Given the description of an element on the screen output the (x, y) to click on. 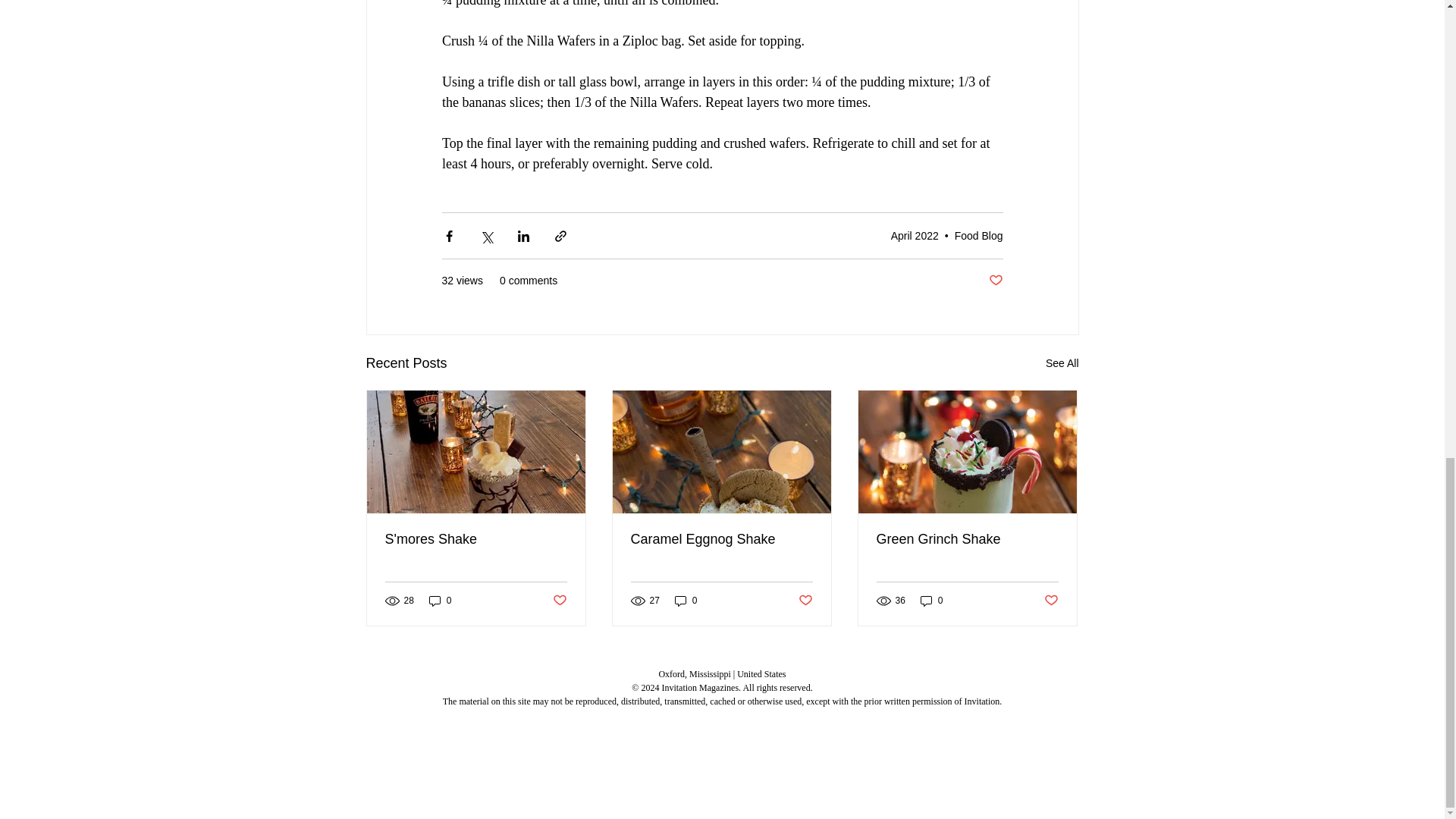
Post not marked as liked (995, 280)
Food Blog (979, 235)
April 2022 (915, 235)
See All (1061, 363)
